Given the description of an element on the screen output the (x, y) to click on. 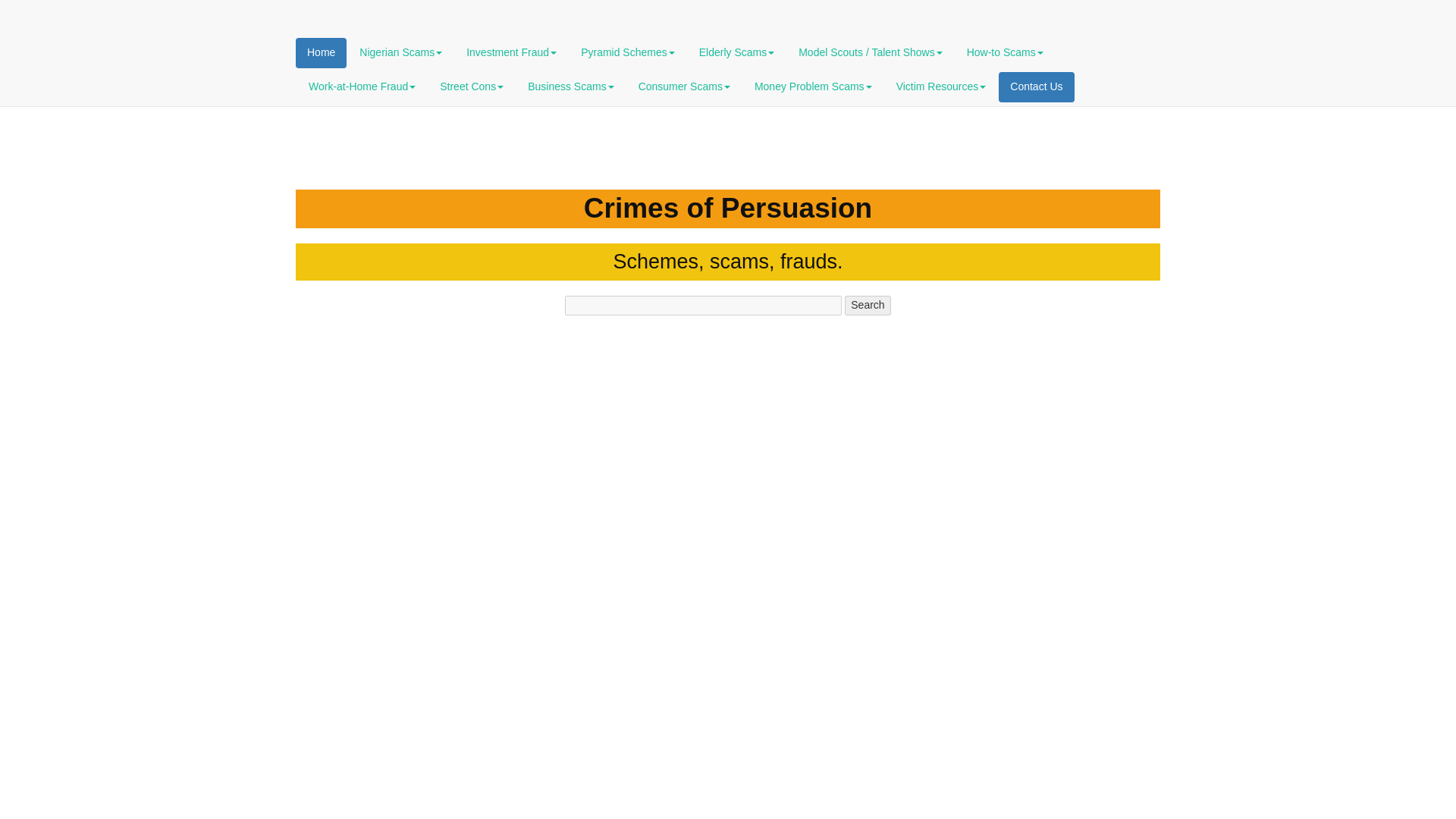
Home (320, 52)
Nigerian Scams (399, 52)
Investment Fraud (510, 52)
Elderly Scams (736, 52)
Pyramid Schemes (627, 52)
Search (866, 305)
